Given the description of an element on the screen output the (x, y) to click on. 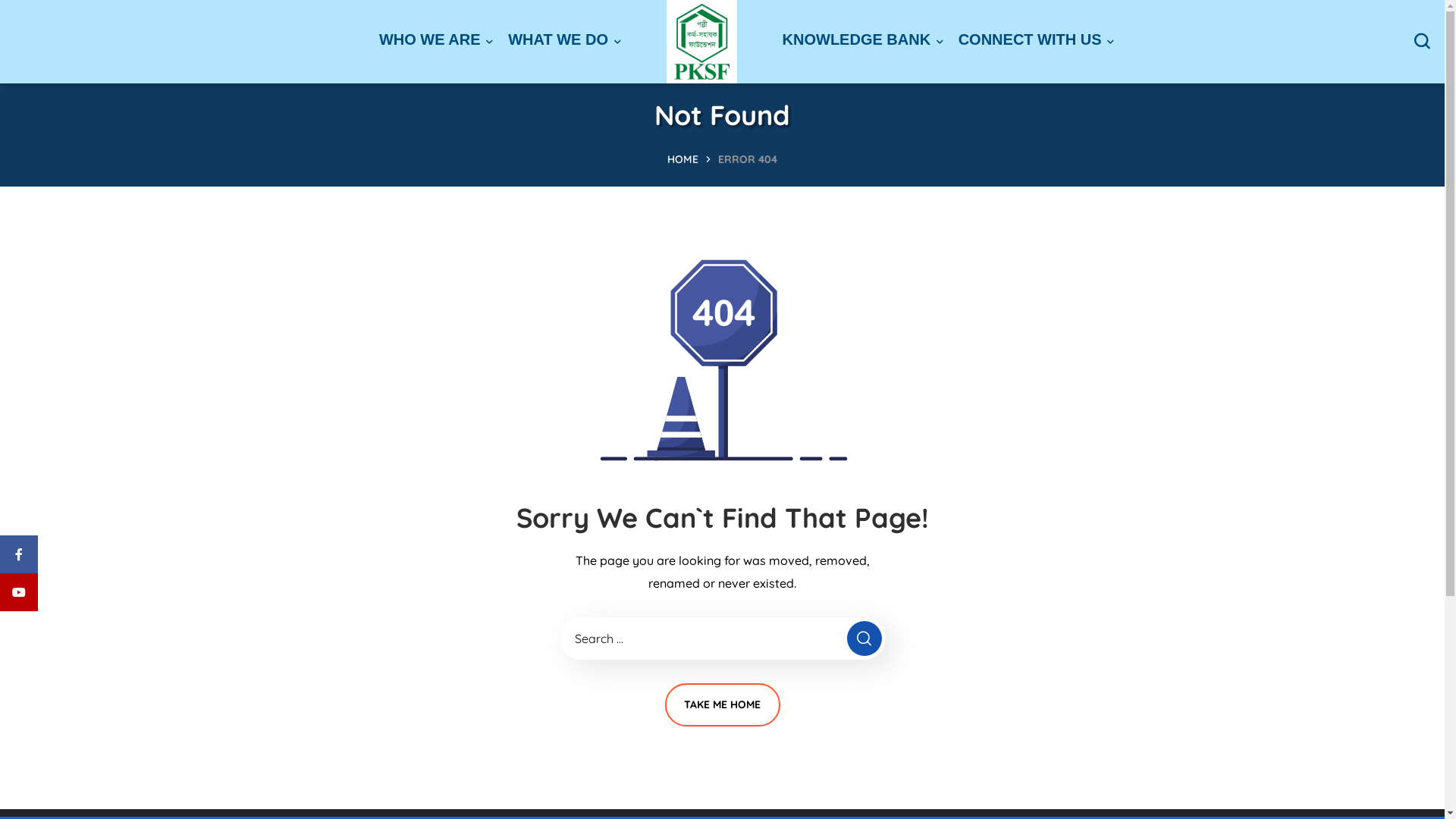
TAKE ME HOME Element type: text (721, 704)
HOME Element type: text (682, 159)
Search Element type: text (864, 638)
Search Element type: text (1373, 135)
